Given the description of an element on the screen output the (x, y) to click on. 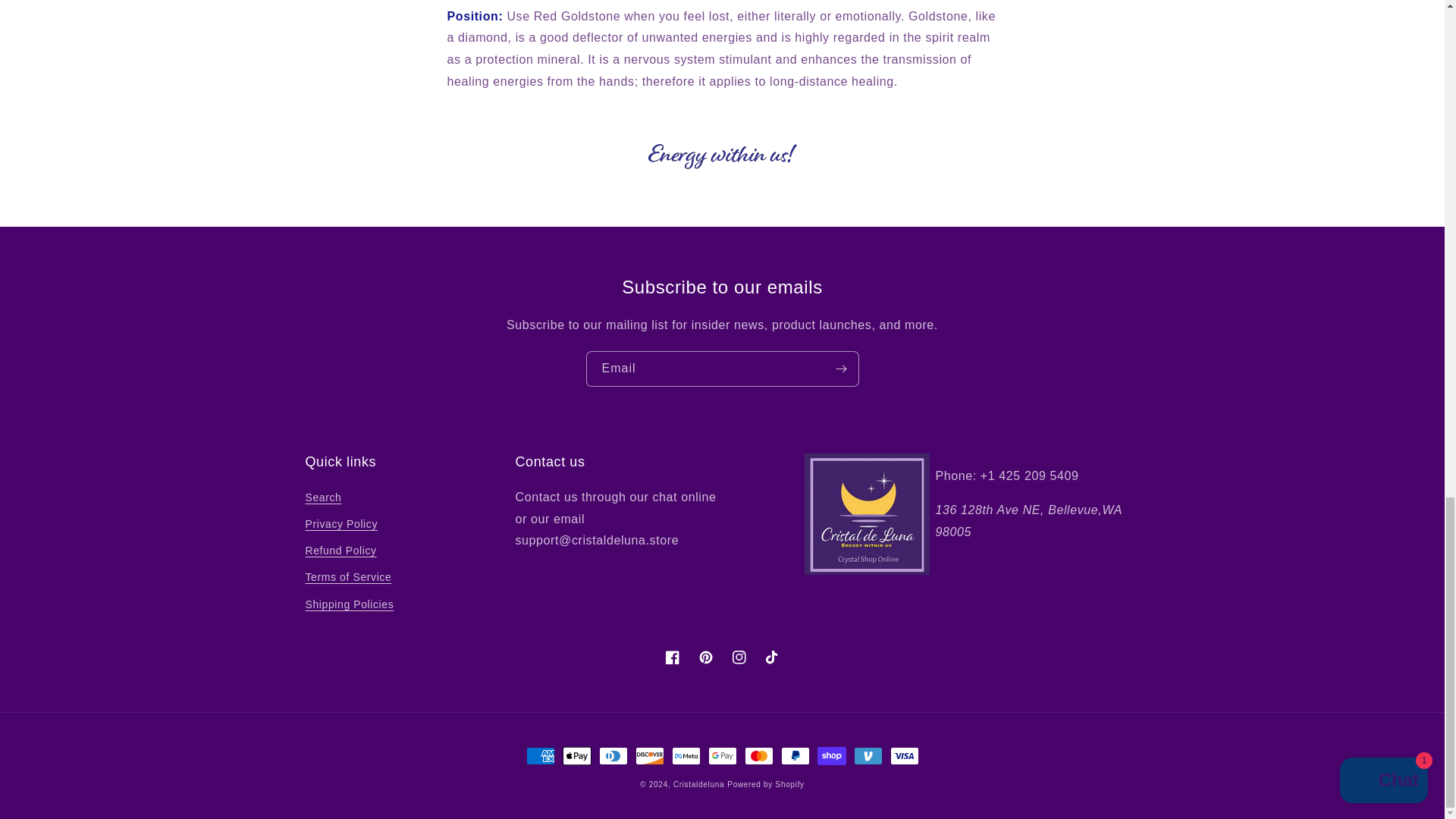
Cristaldeluna (697, 784)
Instagram (738, 657)
Powered by Shopify (765, 784)
Search (322, 499)
Facebook (671, 657)
TikTok (772, 657)
Privacy Policy (340, 524)
Terms of Service (347, 577)
Refund Policy (339, 550)
Shipping Policies (348, 604)
Pinterest (705, 657)
